Given the description of an element on the screen output the (x, y) to click on. 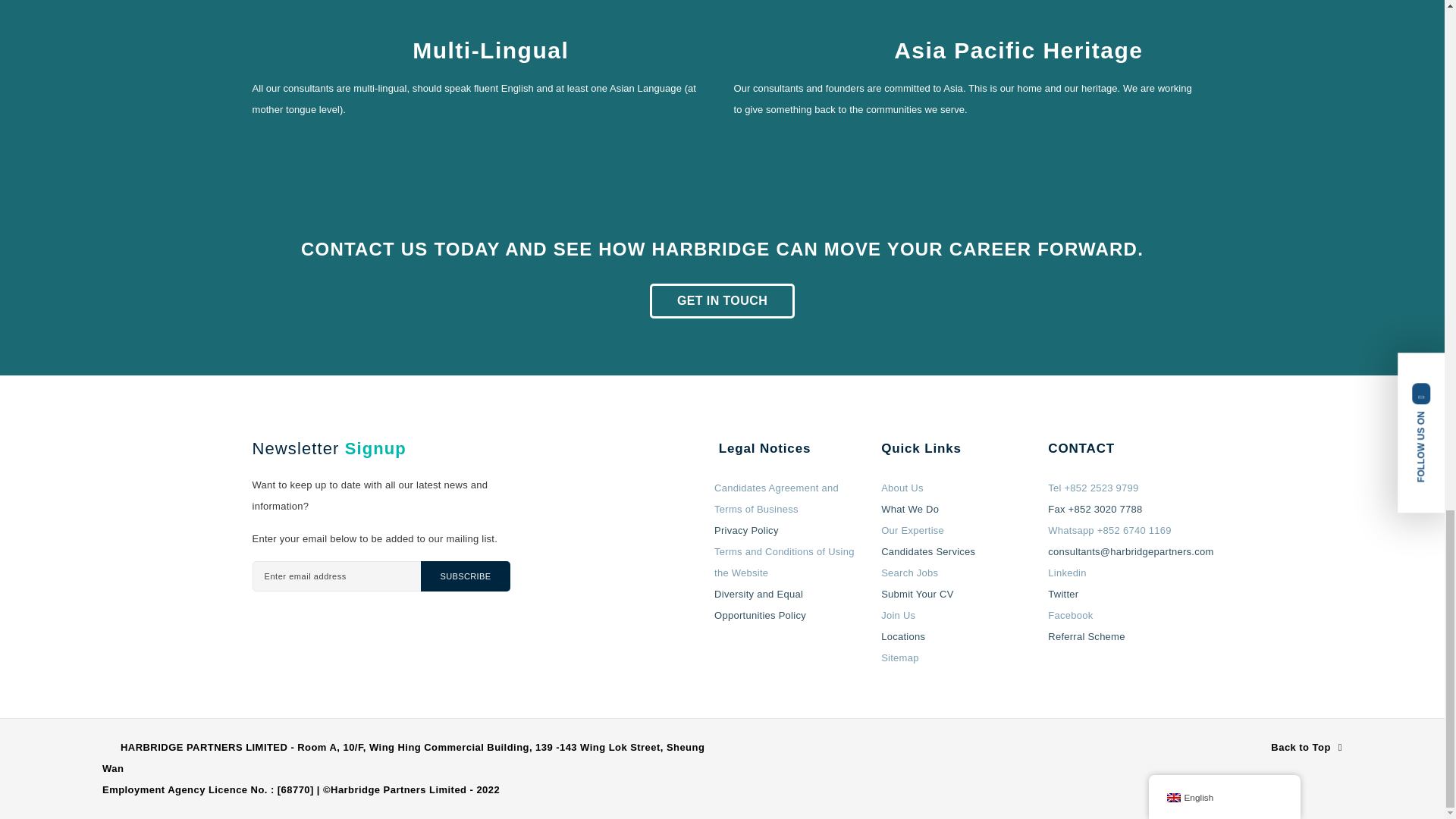
Subscribe (464, 576)
